Given the description of an element on the screen output the (x, y) to click on. 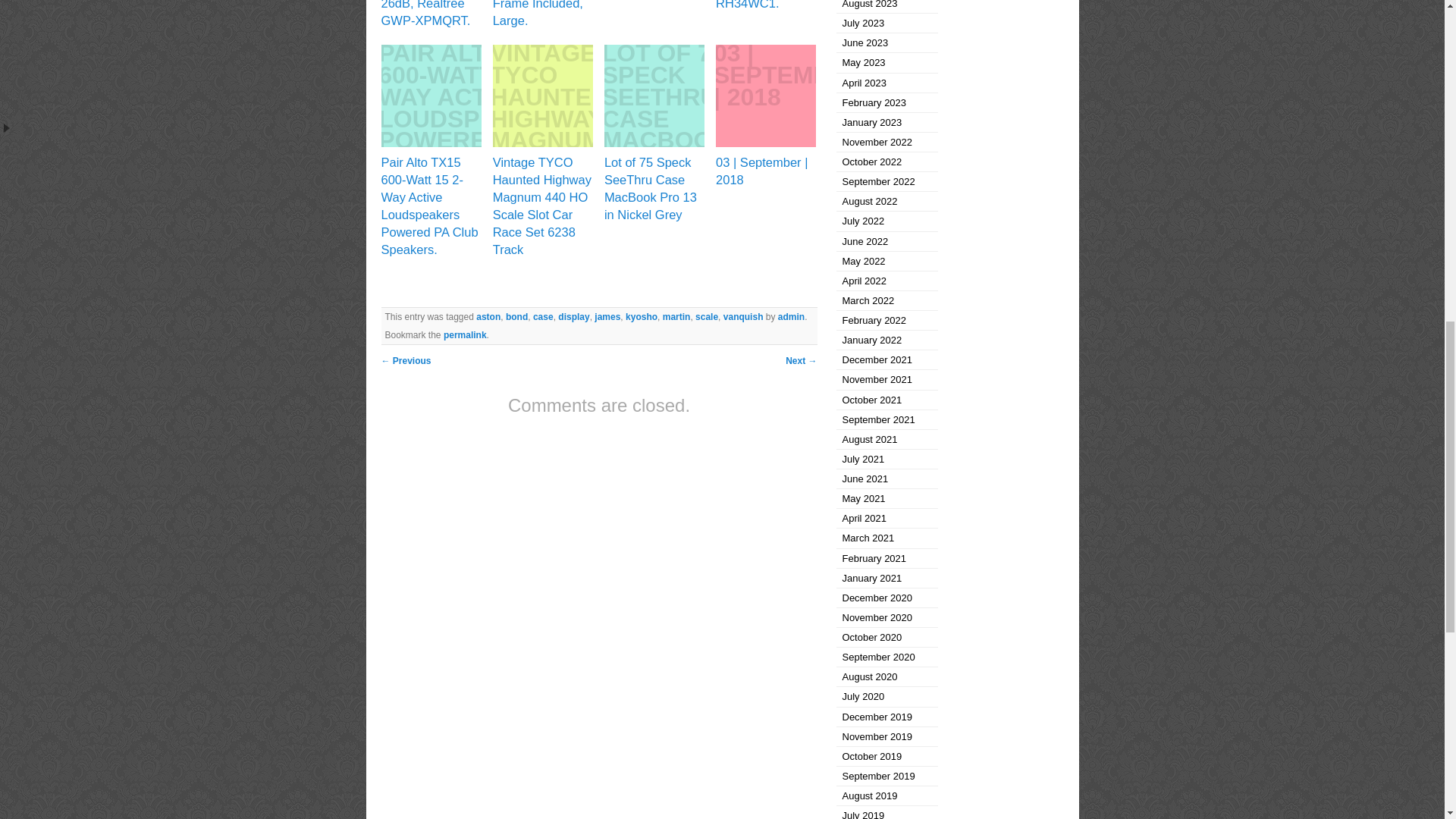
kyosho (642, 317)
admin (791, 317)
permalink (465, 335)
martin (676, 317)
display (573, 317)
bond (516, 317)
vanquish (742, 317)
aston (488, 317)
james (607, 317)
